Given the description of an element on the screen output the (x, y) to click on. 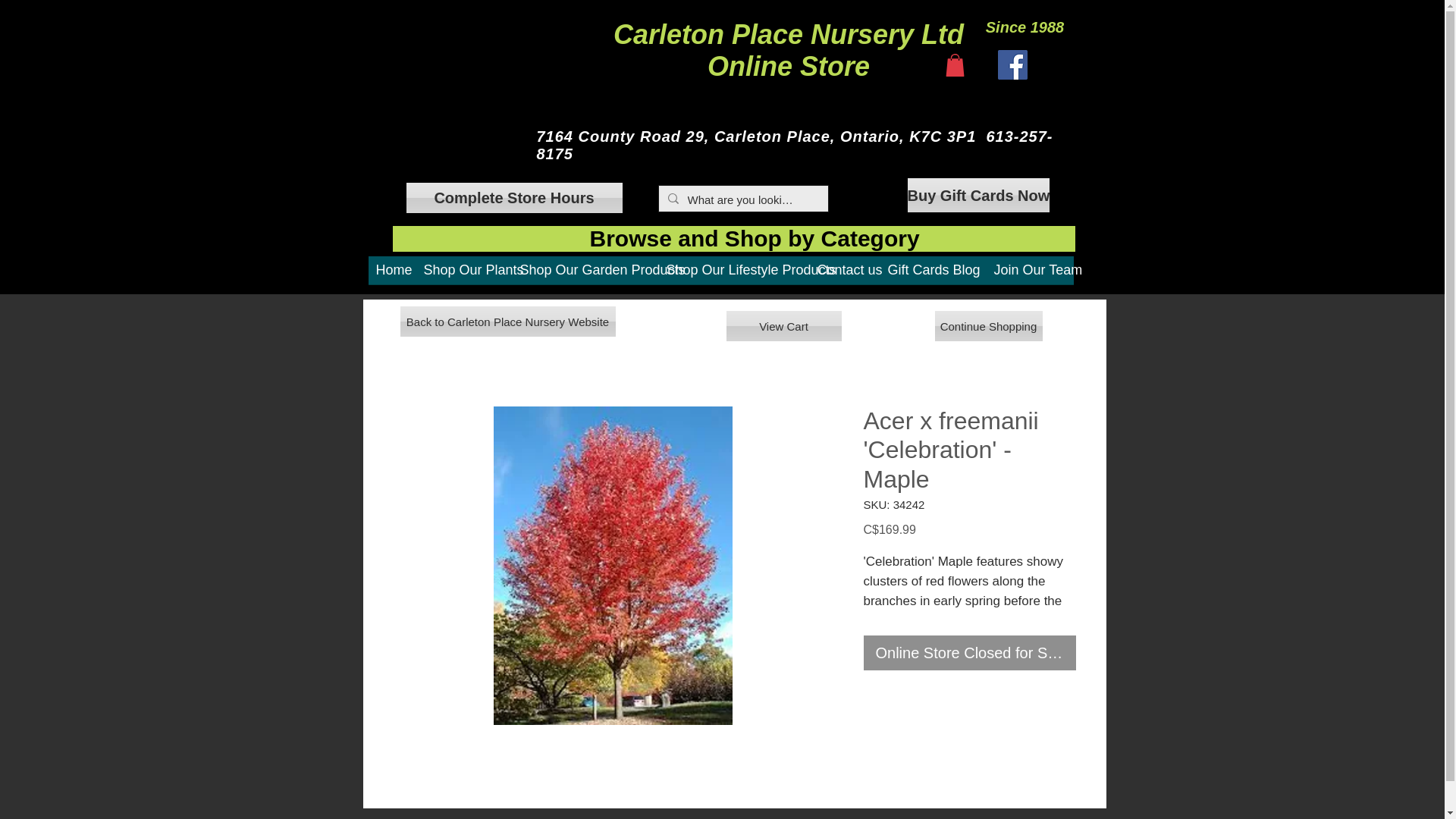
Online Store Closed for Season (969, 652)
View Cart (783, 326)
Shop Our Garden Products (585, 275)
Home (392, 275)
Complete Store Hours (514, 197)
Shop Our Lifestyle Products (733, 275)
Blog (964, 275)
Contact us (844, 275)
Back to Carleton Place Nursery Website (507, 321)
Join Our Team (1029, 275)
